Given the description of an element on the screen output the (x, y) to click on. 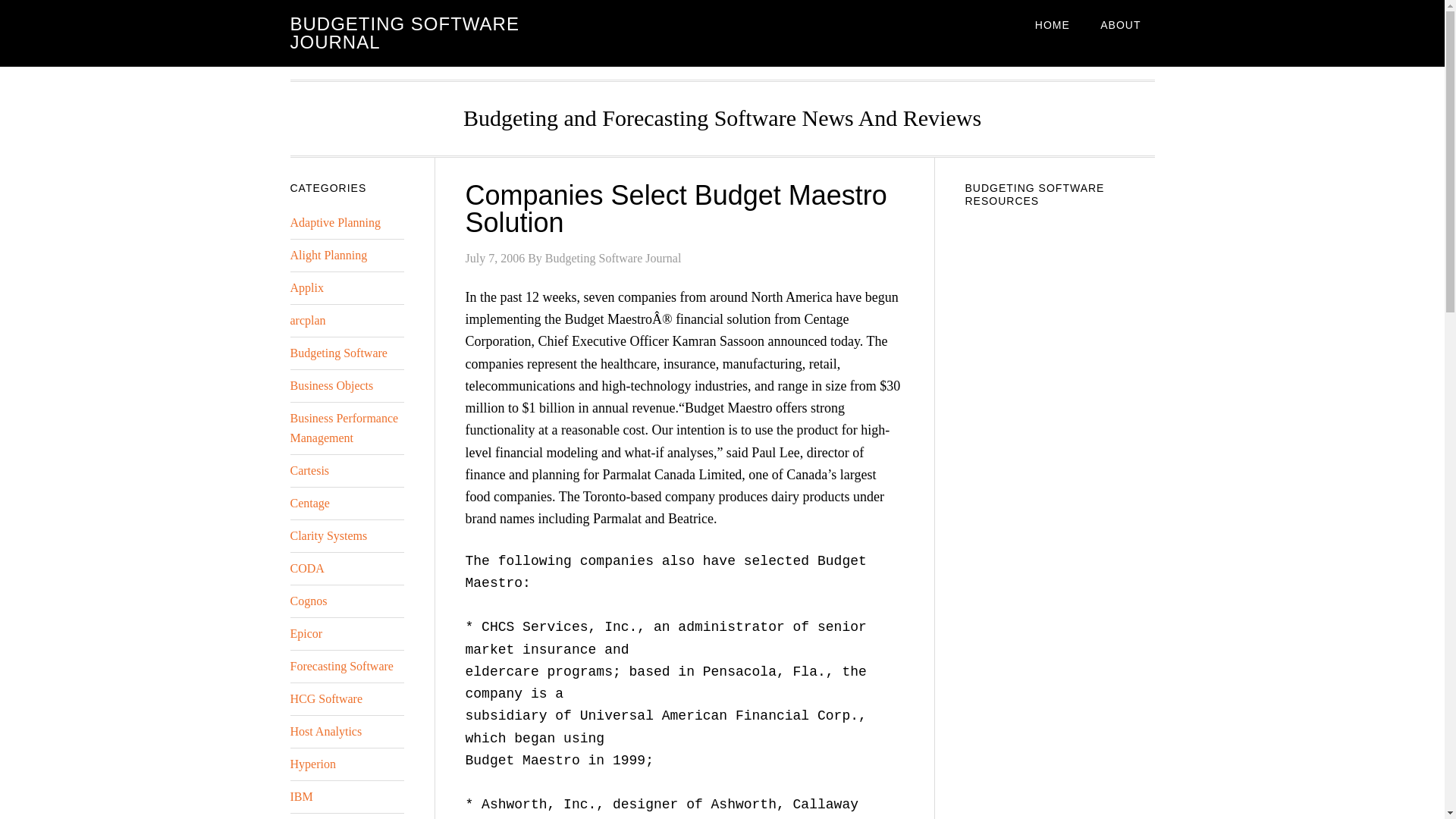
Epicor (305, 633)
Clarity Systems (327, 535)
Business Performance Management (343, 427)
Cartesis (309, 470)
Business Objects (330, 385)
arcplan (306, 319)
CODA (306, 567)
Applix (306, 287)
BUDGETING SOFTWARE JOURNAL (403, 32)
Cognos (307, 600)
